Given the description of an element on the screen output the (x, y) to click on. 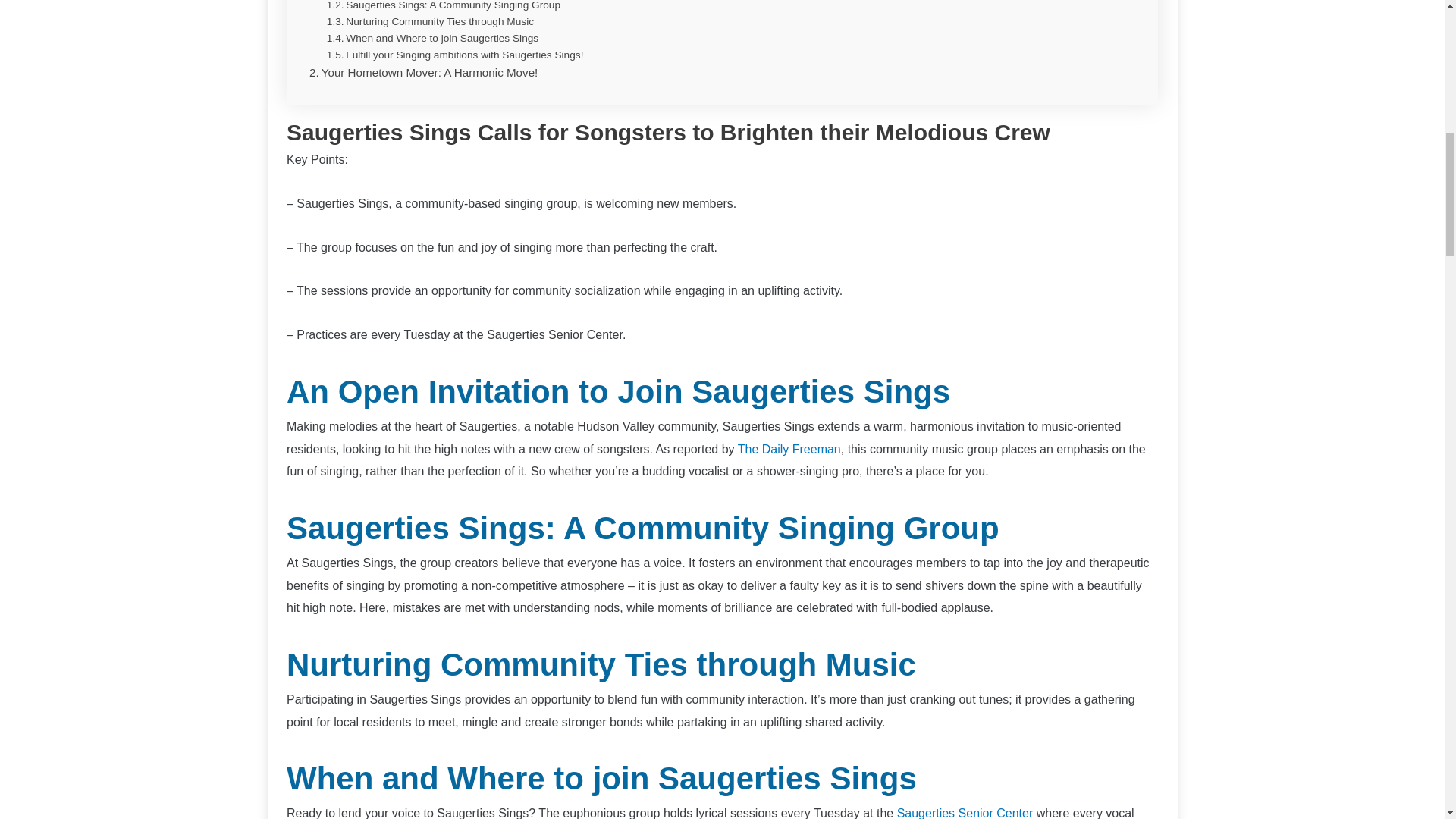
When and Where to join Saugerties Sings (432, 38)
Your Hometown Mover: A Harmonic Move! (422, 72)
Fulfill your Singing ambitions with Saugerties Sings! (454, 54)
Nurturing Community Ties through Music (430, 21)
Saugerties Sings: A Community Singing Group (443, 6)
